Given the description of an element on the screen output the (x, y) to click on. 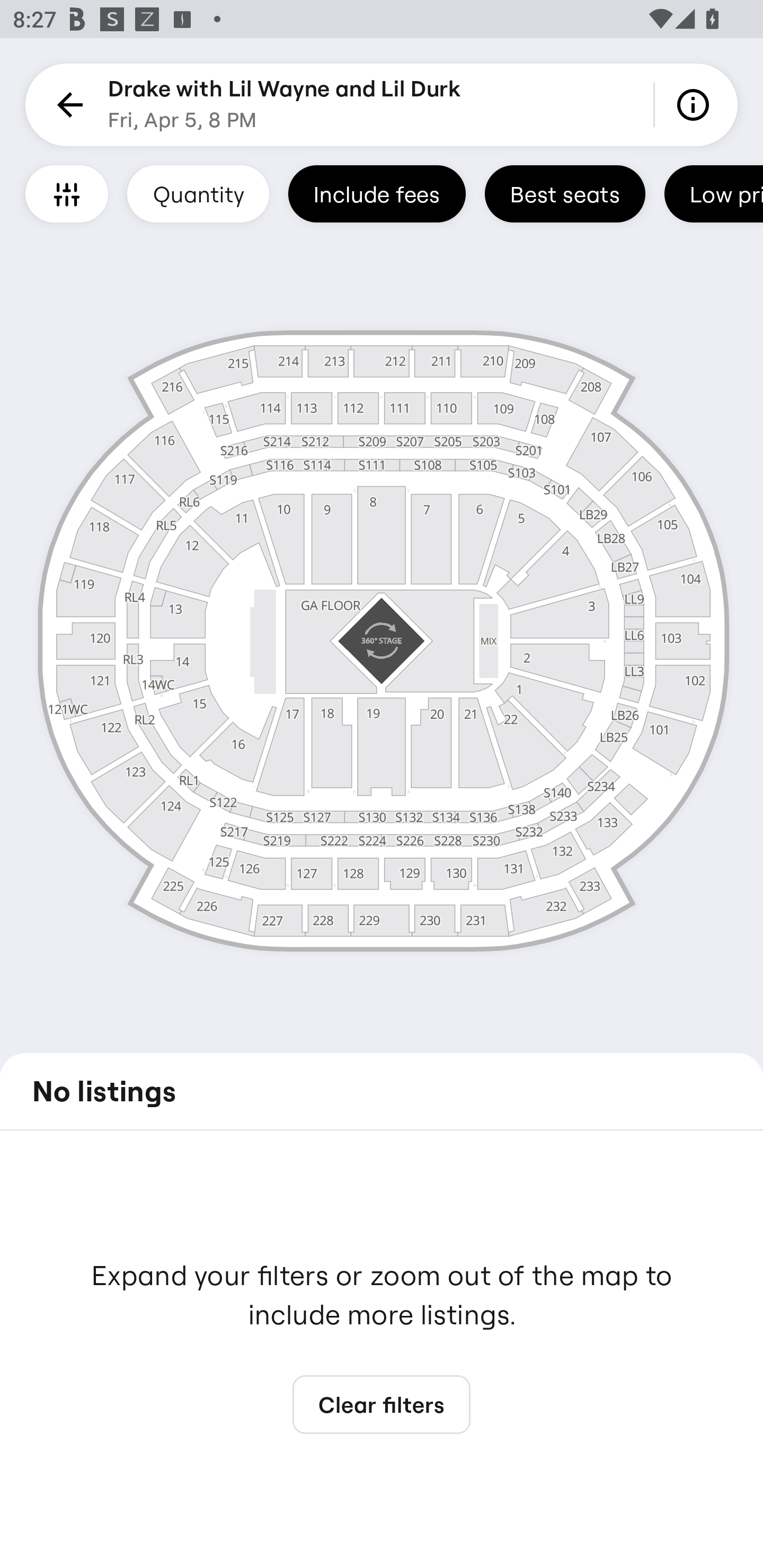
Back (66, 104)
Drake with Lil Wayne and Lil Durk Fri, Apr 5, 8 PM (284, 104)
Info (695, 104)
Filters and Accessible Seating (66, 193)
Quantity (198, 193)
Include fees (376, 193)
Best seats (564, 193)
Clear filters (381, 1404)
